Given the description of an element on the screen output the (x, y) to click on. 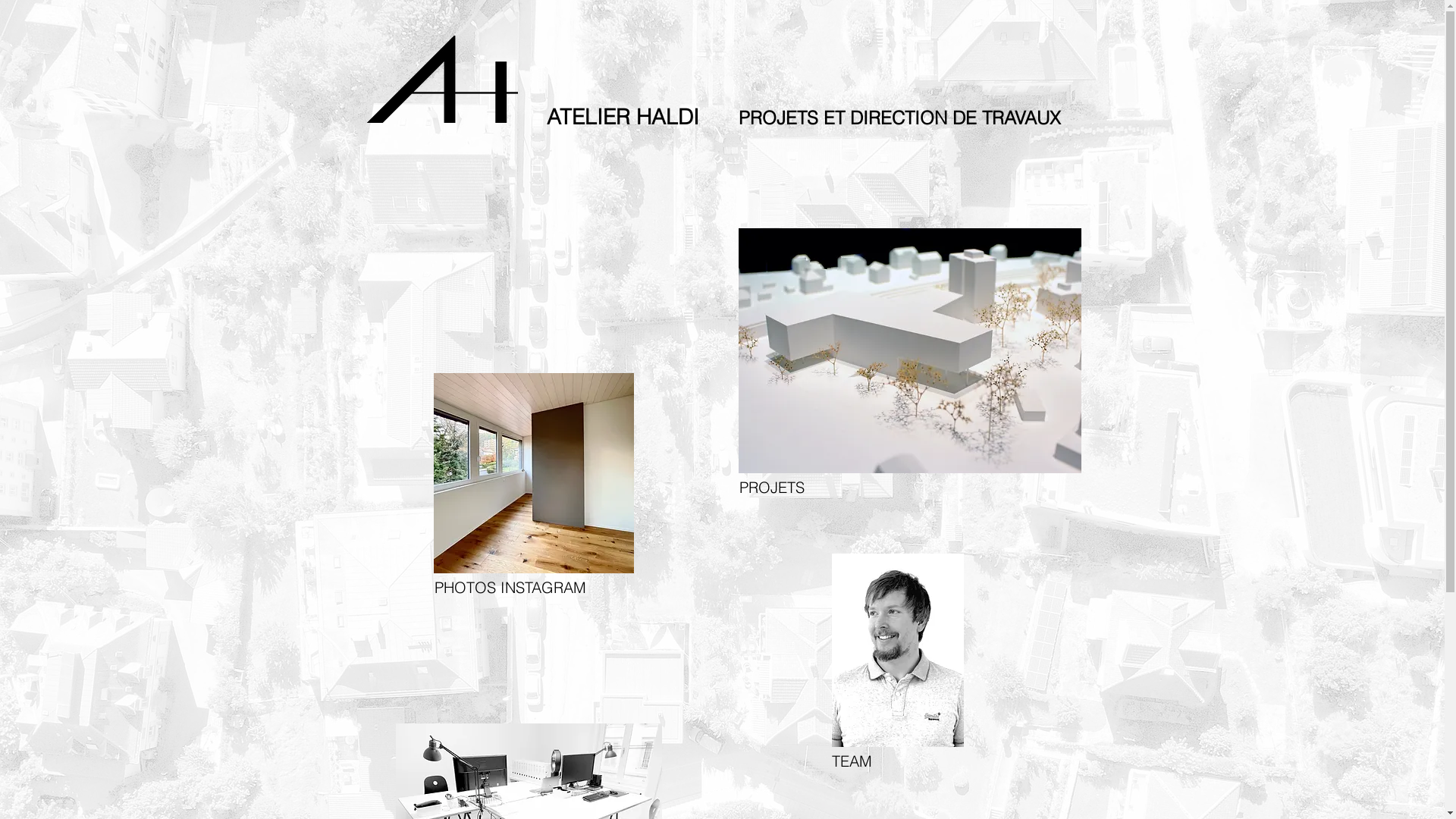
PHOTOS INSTAGRAM Element type: text (511, 587)
PROJETS Element type: text (816, 487)
AH.png Element type: hover (441, 78)
TEAM Element type: text (908, 760)
